Given the description of an element on the screen output the (x, y) to click on. 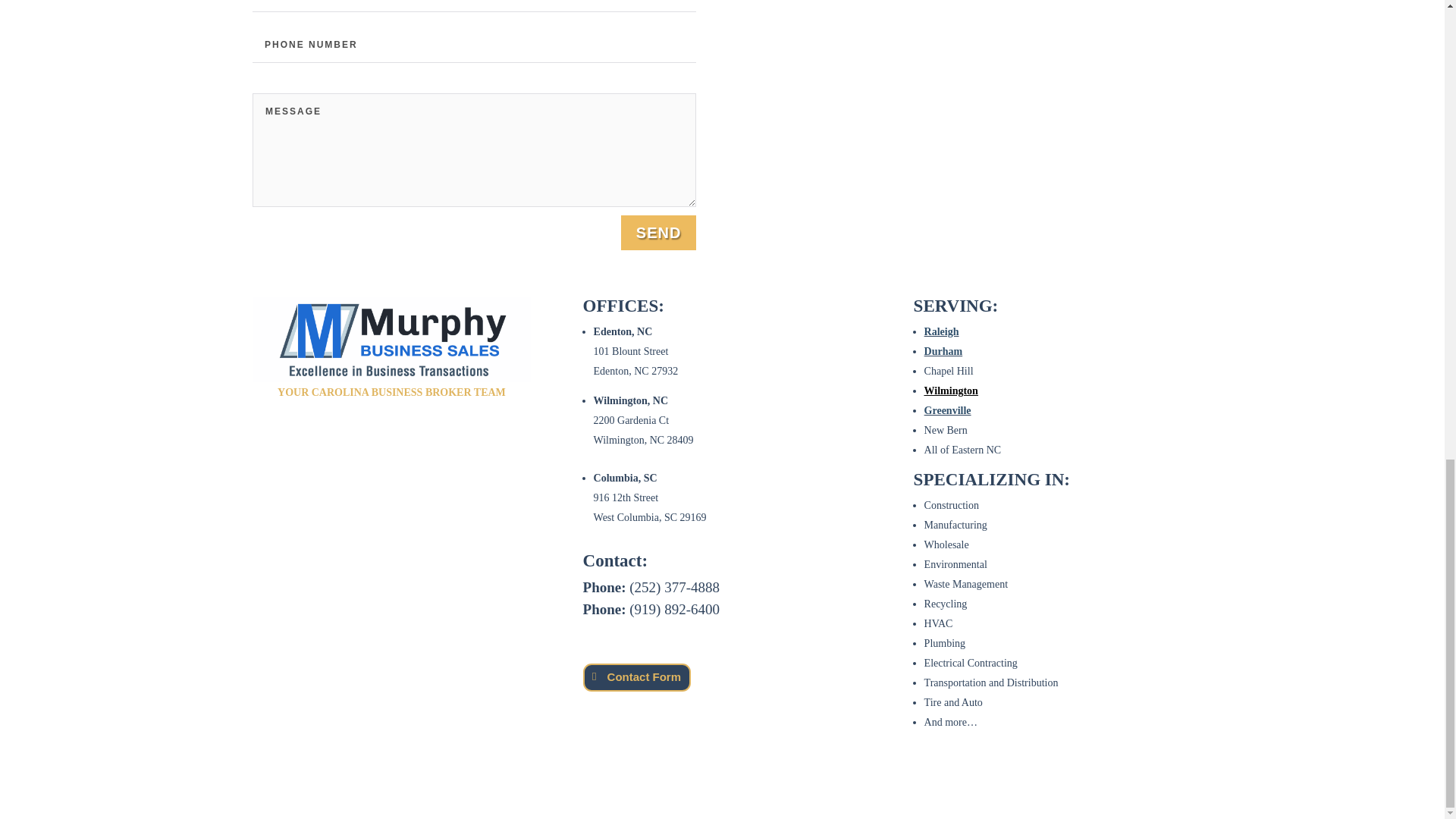
Greenville (947, 410)
Greenville (947, 410)
Contact Form (636, 677)
Durham (943, 351)
Raleigh (941, 331)
Murphy Brand Mark 1.8 (391, 339)
SEND (659, 232)
Raleigh (941, 331)
Durham (943, 351)
Wilmington (951, 390)
